Given the description of an element on the screen output the (x, y) to click on. 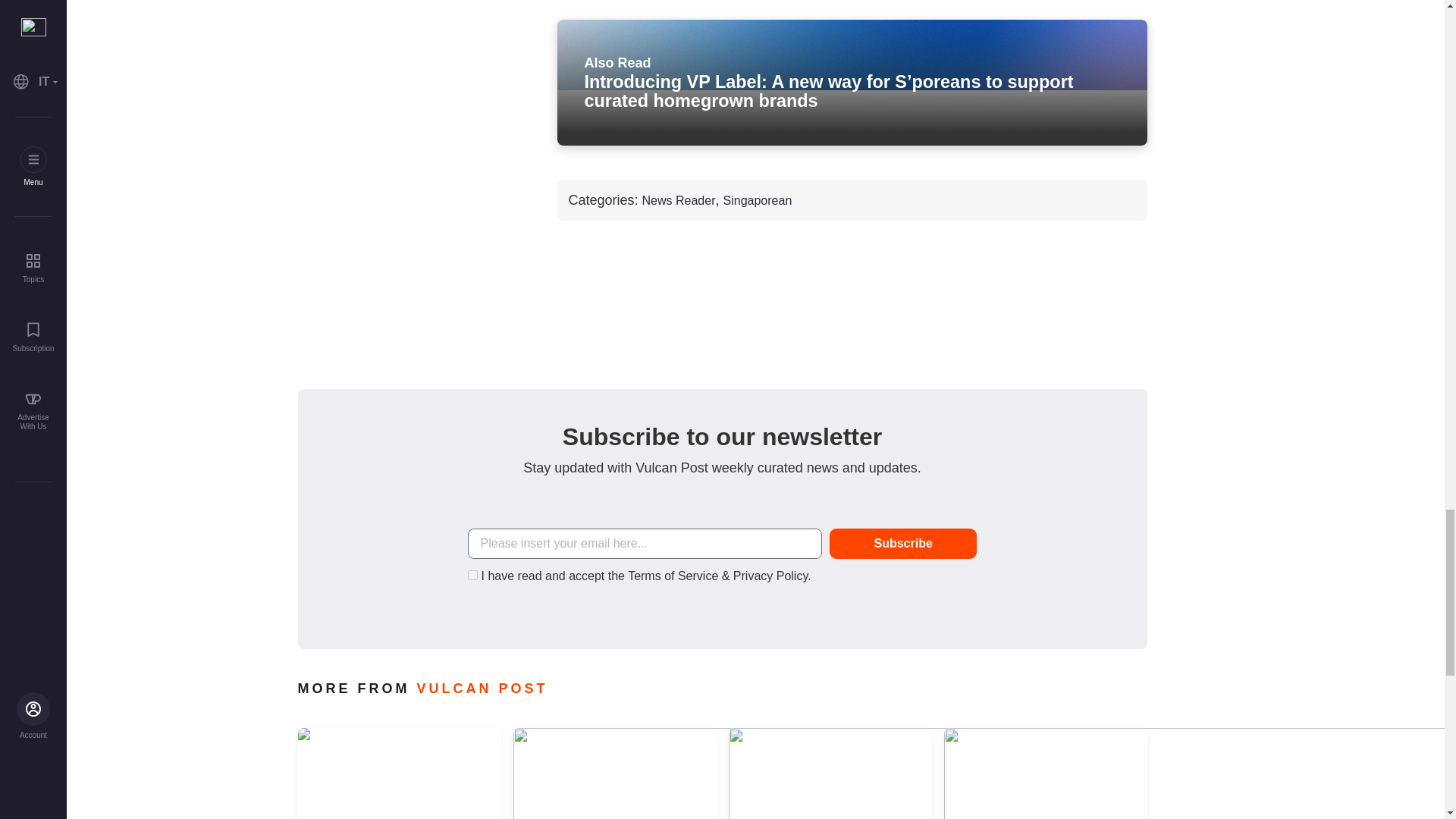
on (472, 574)
Singaporean (757, 200)
Subscribe (902, 543)
News Reader (679, 200)
